Given the description of an element on the screen output the (x, y) to click on. 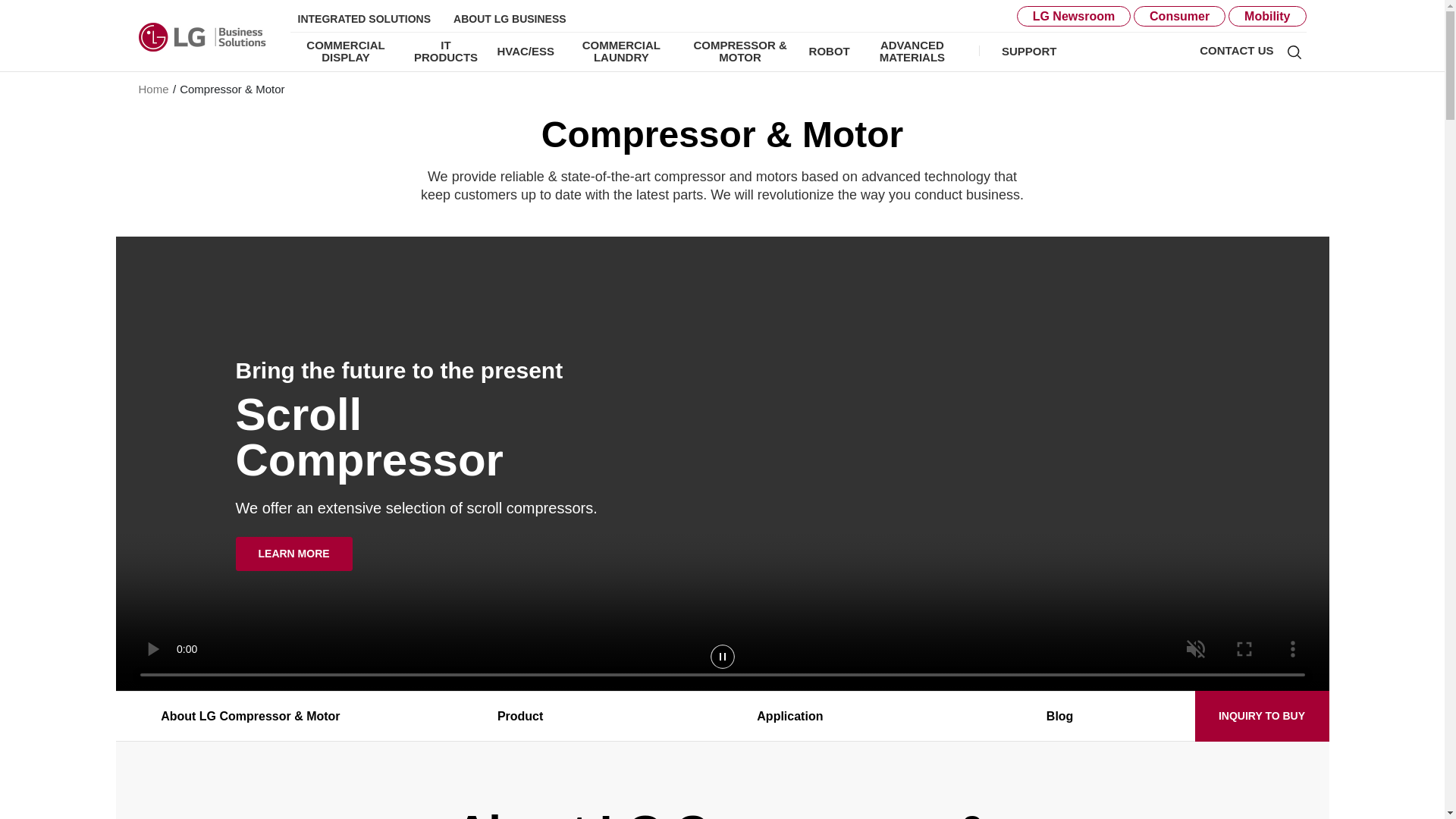
ABOUT LG BUSINESS (509, 15)
Mobility (1267, 15)
LG Newsroom (1073, 15)
INTEGRATED SOLUTIONS (363, 15)
Consumer (1179, 15)
COMMERCIAL DISPLAY (345, 51)
Opens in a new window (363, 15)
